Given the description of an element on the screen output the (x, y) to click on. 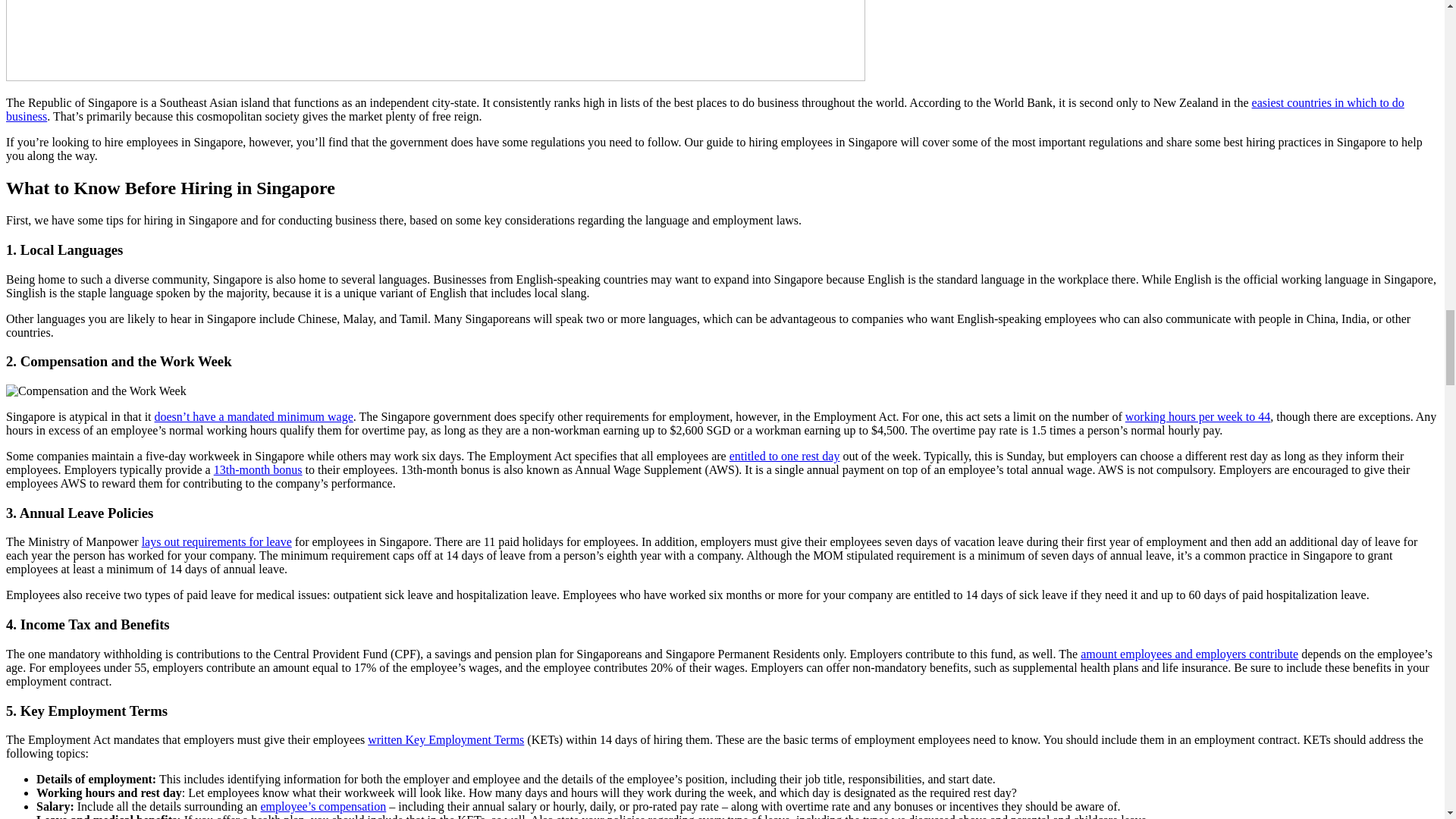
working hours per week to 44 (1198, 416)
13th-month bonus (258, 469)
lays out requirements for leave (216, 541)
easiest countries in which to do business (705, 109)
entitled to one rest day (784, 455)
written Key Employment Terms (446, 739)
amount employees and employers contribute (1189, 653)
